Given the description of an element on the screen output the (x, y) to click on. 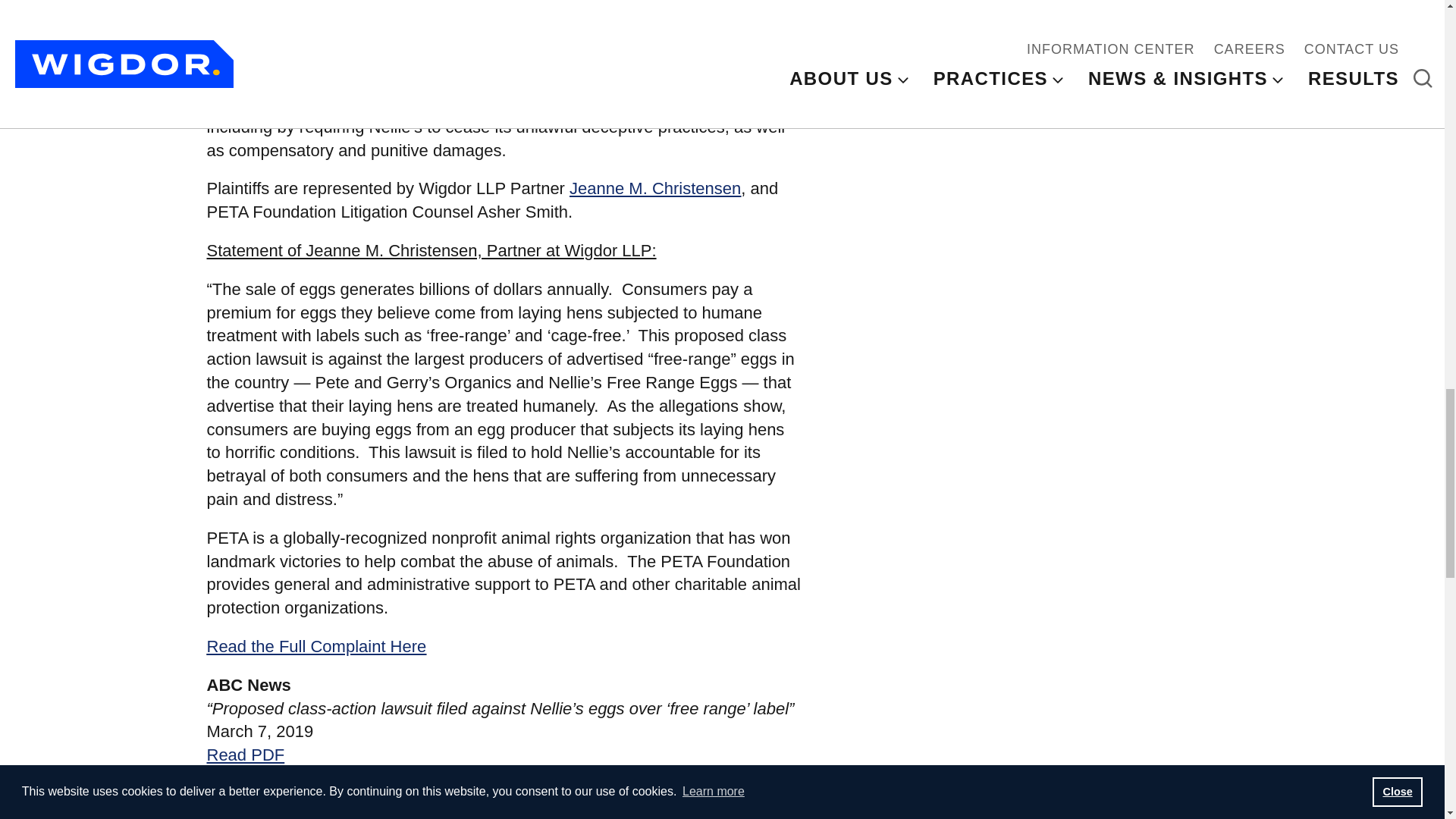
Read Online (252, 778)
Jeanne M. Christensen (655, 188)
Read PDF (244, 754)
reaction video (464, 33)
Read the Full Complaint Here (316, 646)
